Given the description of an element on the screen output the (x, y) to click on. 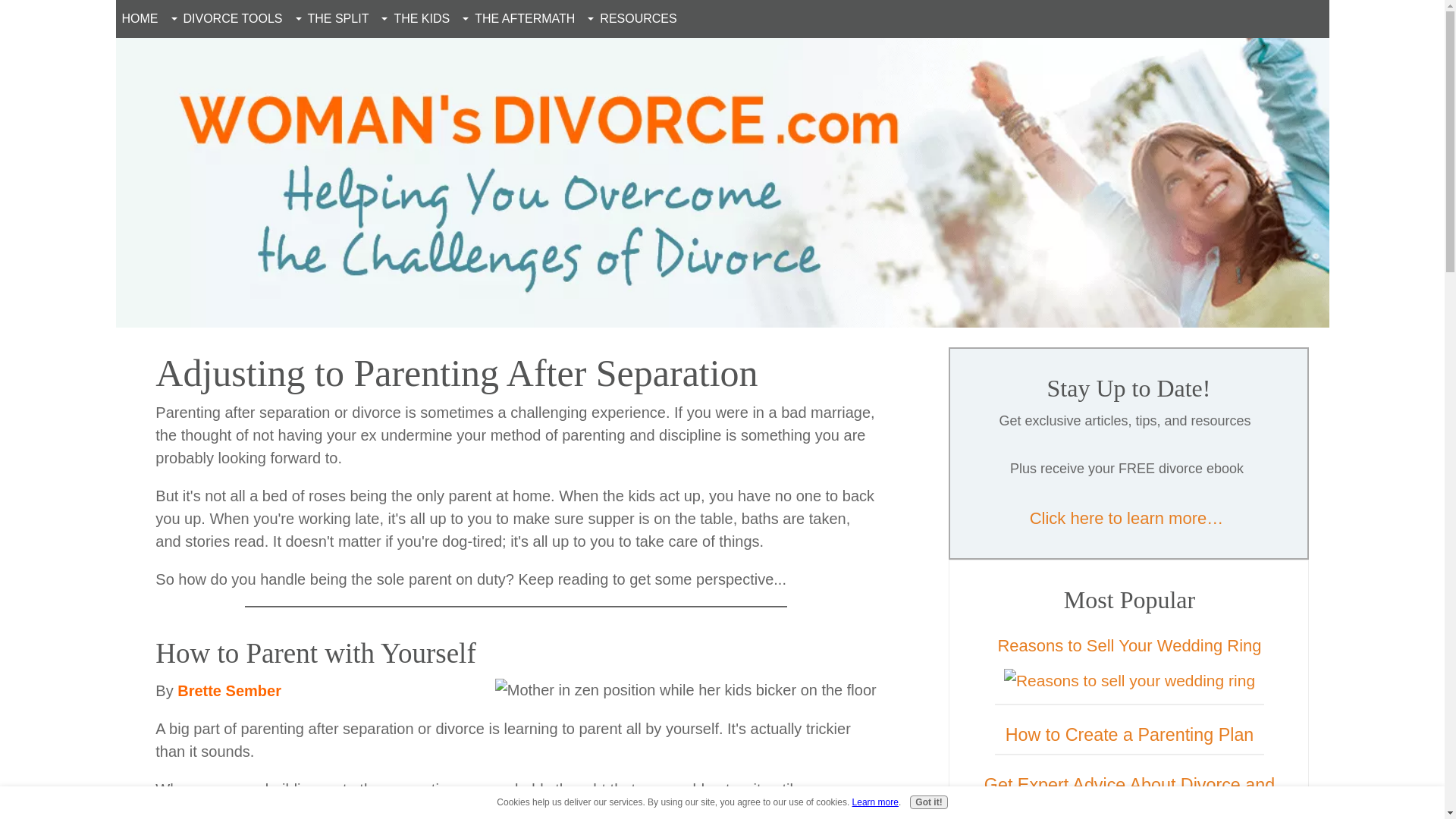
Reasons to sell your wedding ring (1129, 680)
Mother in zen position while her kids bicker on the floor (685, 689)
HOME (139, 18)
Brette Sember (229, 690)
